Given the description of an element on the screen output the (x, y) to click on. 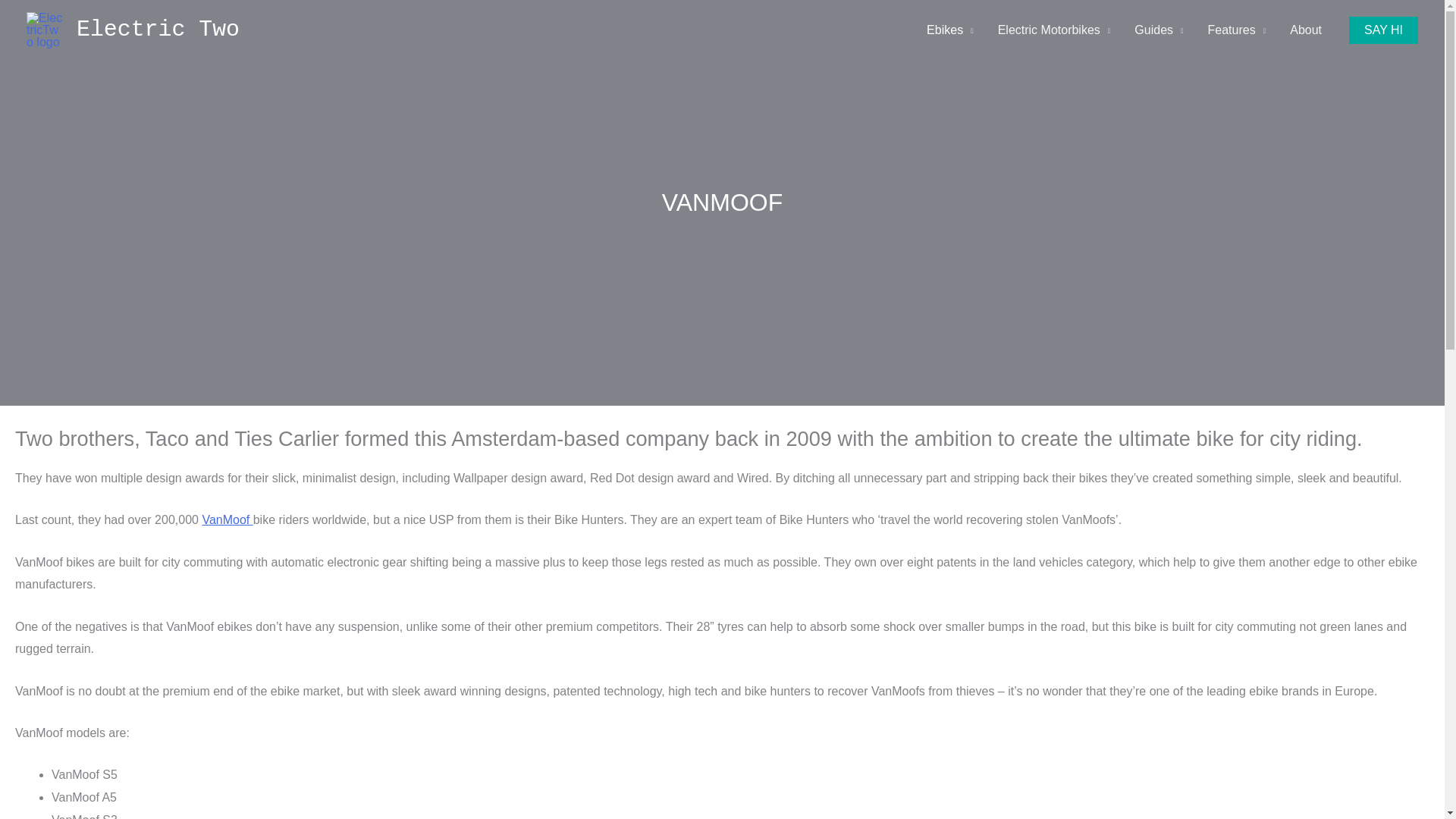
Ebikes (949, 30)
Electric Two (158, 29)
Electric Motorbikes (1053, 30)
Guides (1158, 30)
Features (1236, 30)
